Given the description of an element on the screen output the (x, y) to click on. 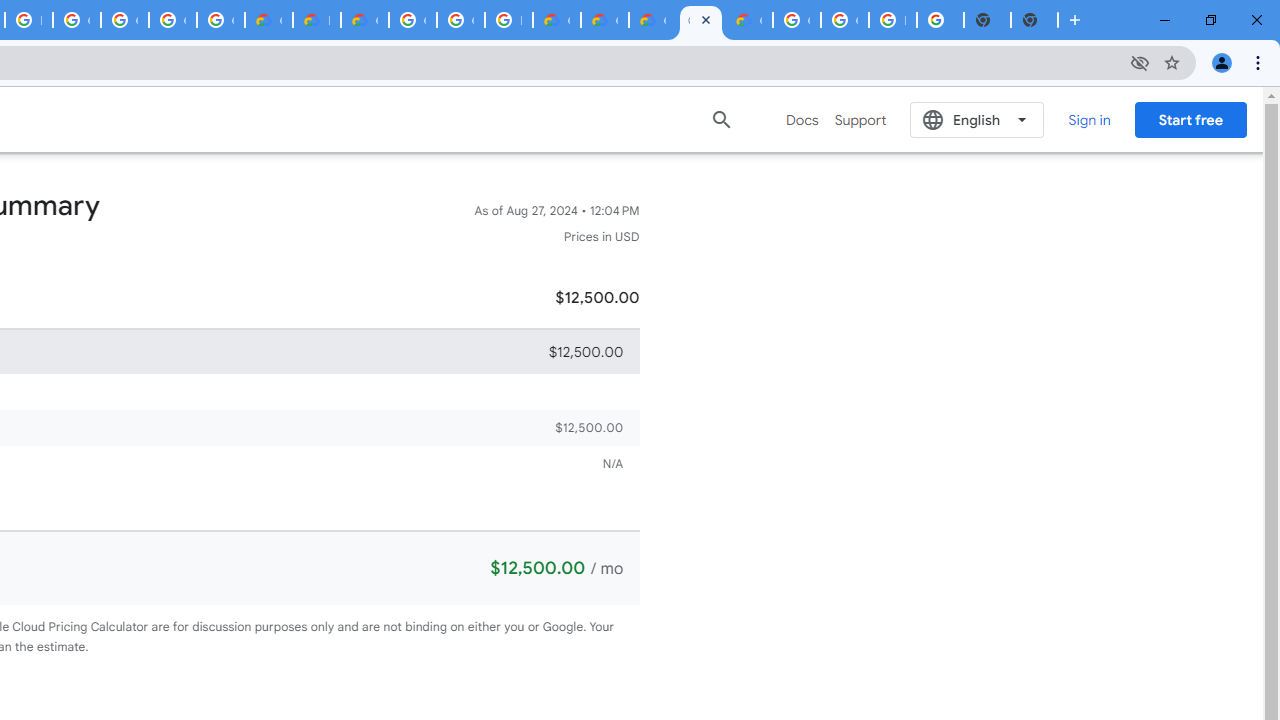
Google Workspace - Specific Terms (220, 20)
Docs (802, 119)
Gemini for Business and Developers | Google Cloud (364, 20)
Google Cloud Platform (460, 20)
Start free (1190, 119)
Google Workspace - Specific Terms (172, 20)
Customer Care | Google Cloud (556, 20)
